Given the description of an element on the screen output the (x, y) to click on. 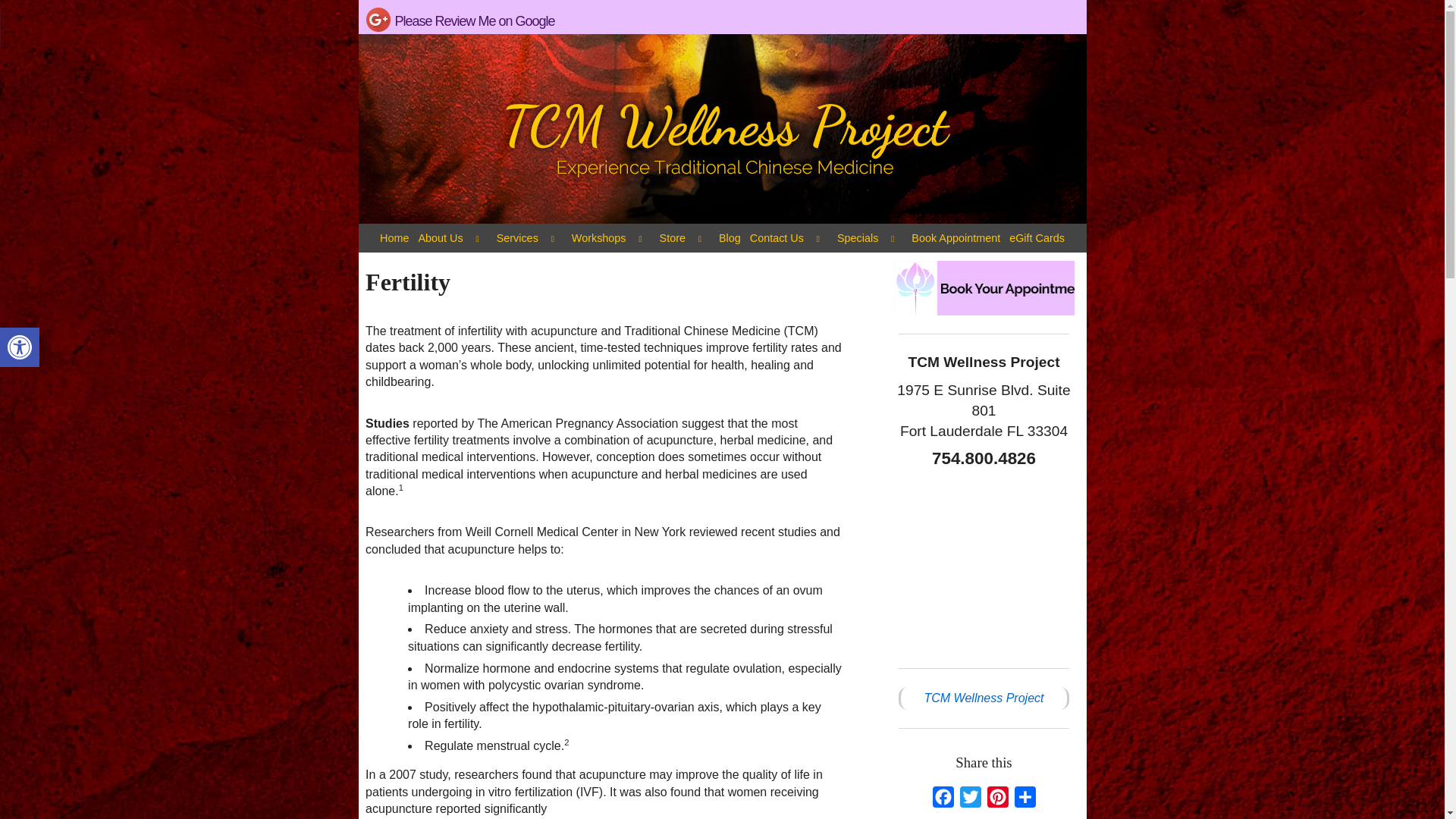
Readable Font (19, 346)
Grayscale (394, 237)
Light Background (722, 17)
Increase Text (983, 562)
Skip to content (19, 346)
High Contrast (517, 237)
